Given the description of an element on the screen output the (x, y) to click on. 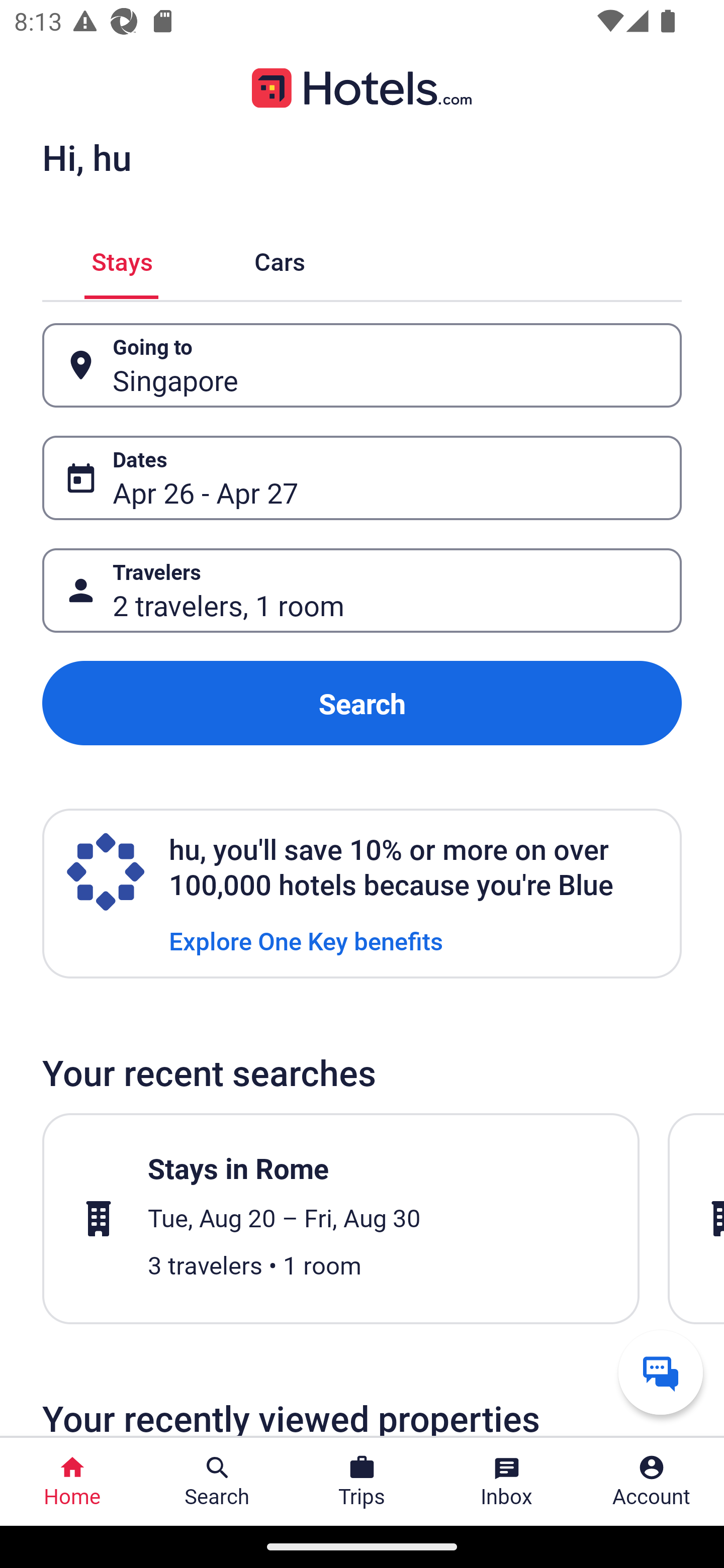
Hi, hu (86, 156)
Cars (279, 259)
Going to Button Singapore (361, 365)
Dates Button Apr 26 - Apr 27 (361, 477)
Travelers Button 2 travelers, 1 room (361, 590)
Search (361, 702)
Get help from a virtual agent (660, 1371)
Search Search Button (216, 1481)
Trips Trips Button (361, 1481)
Inbox Inbox Button (506, 1481)
Account Profile. Button (651, 1481)
